Given the description of an element on the screen output the (x, y) to click on. 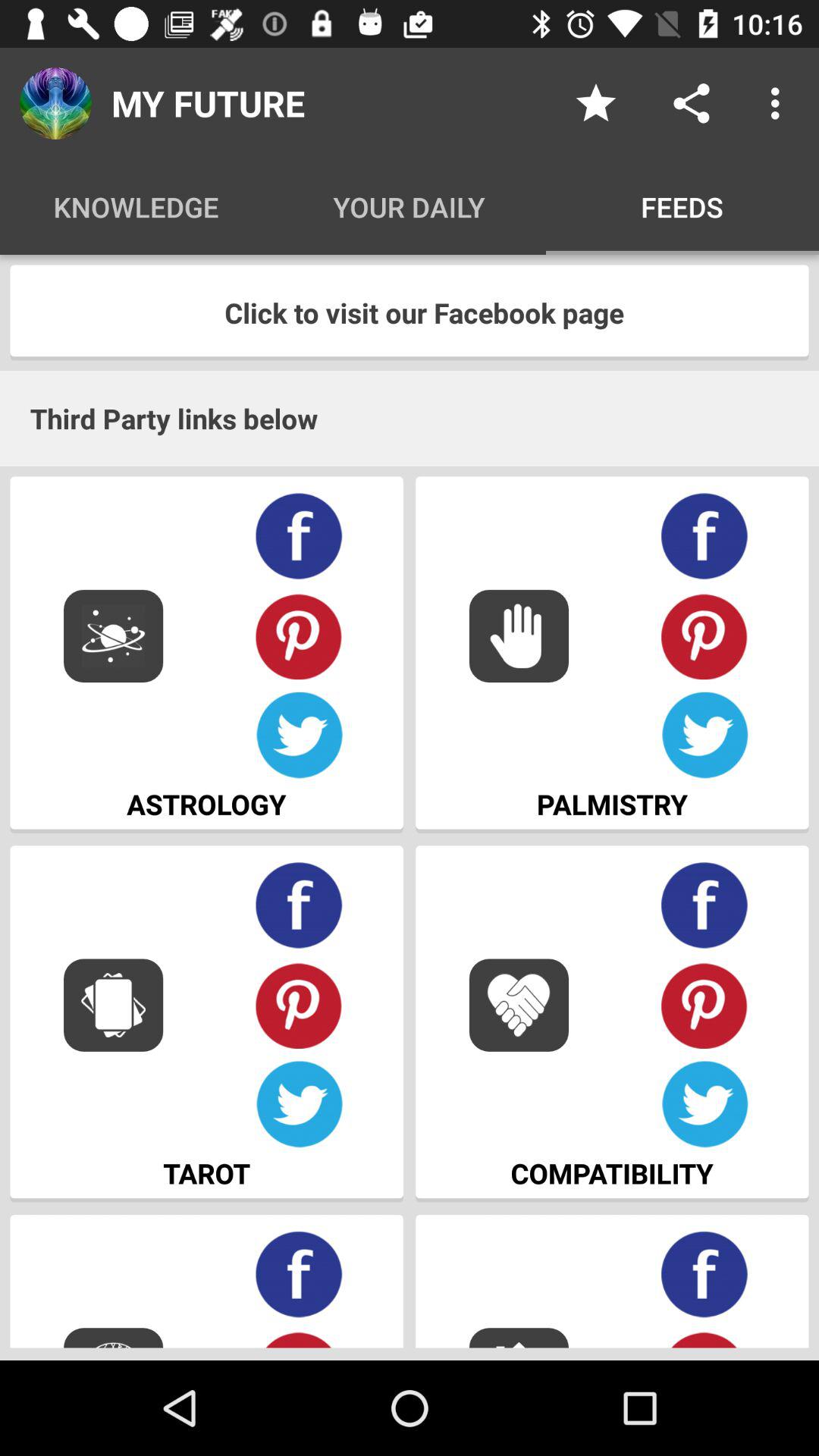
turn on the item above third party links item (409, 312)
